Given the description of an element on the screen output the (x, y) to click on. 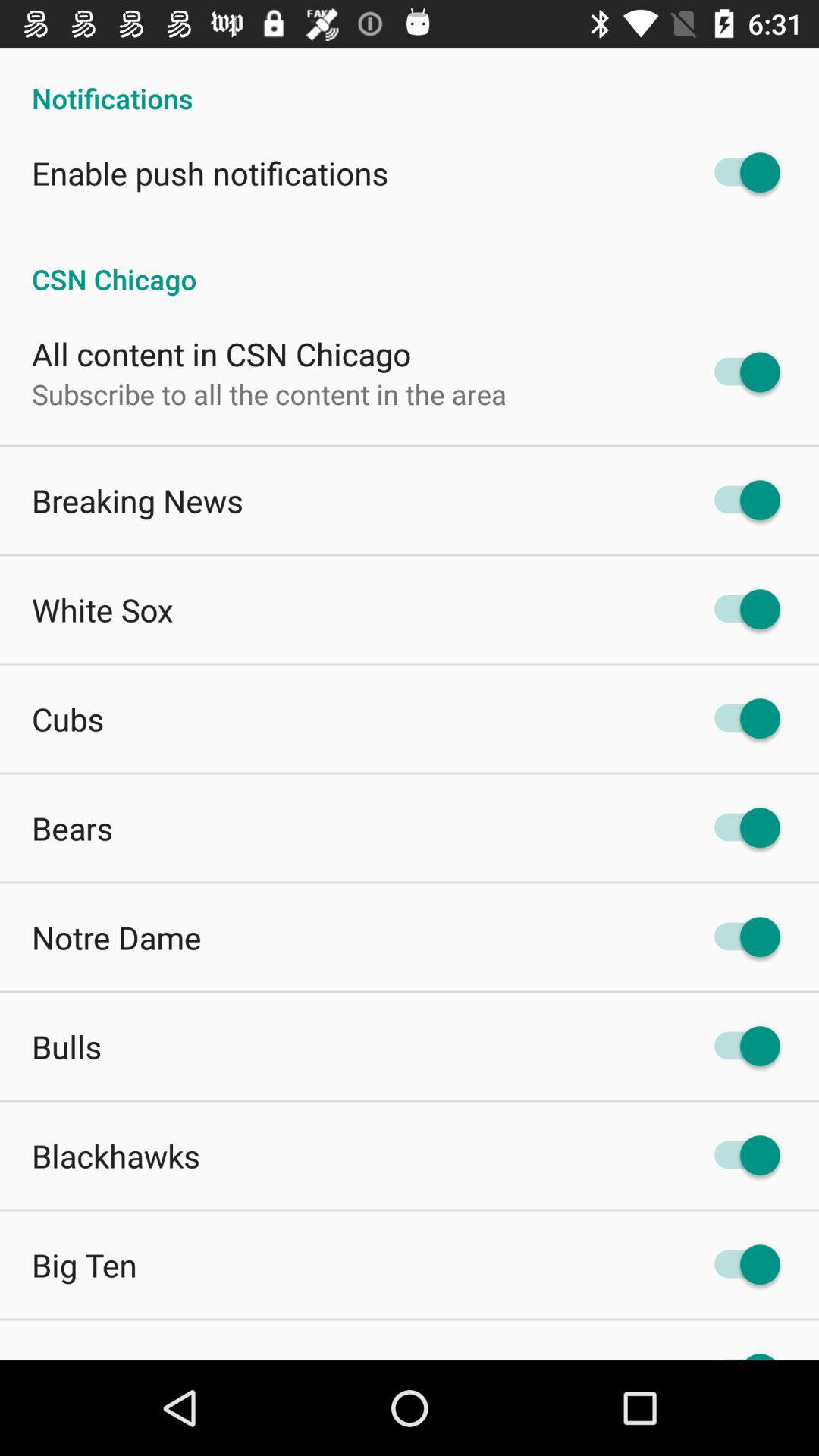
choose the icon above big ten app (115, 1155)
